Given the description of an element on the screen output the (x, y) to click on. 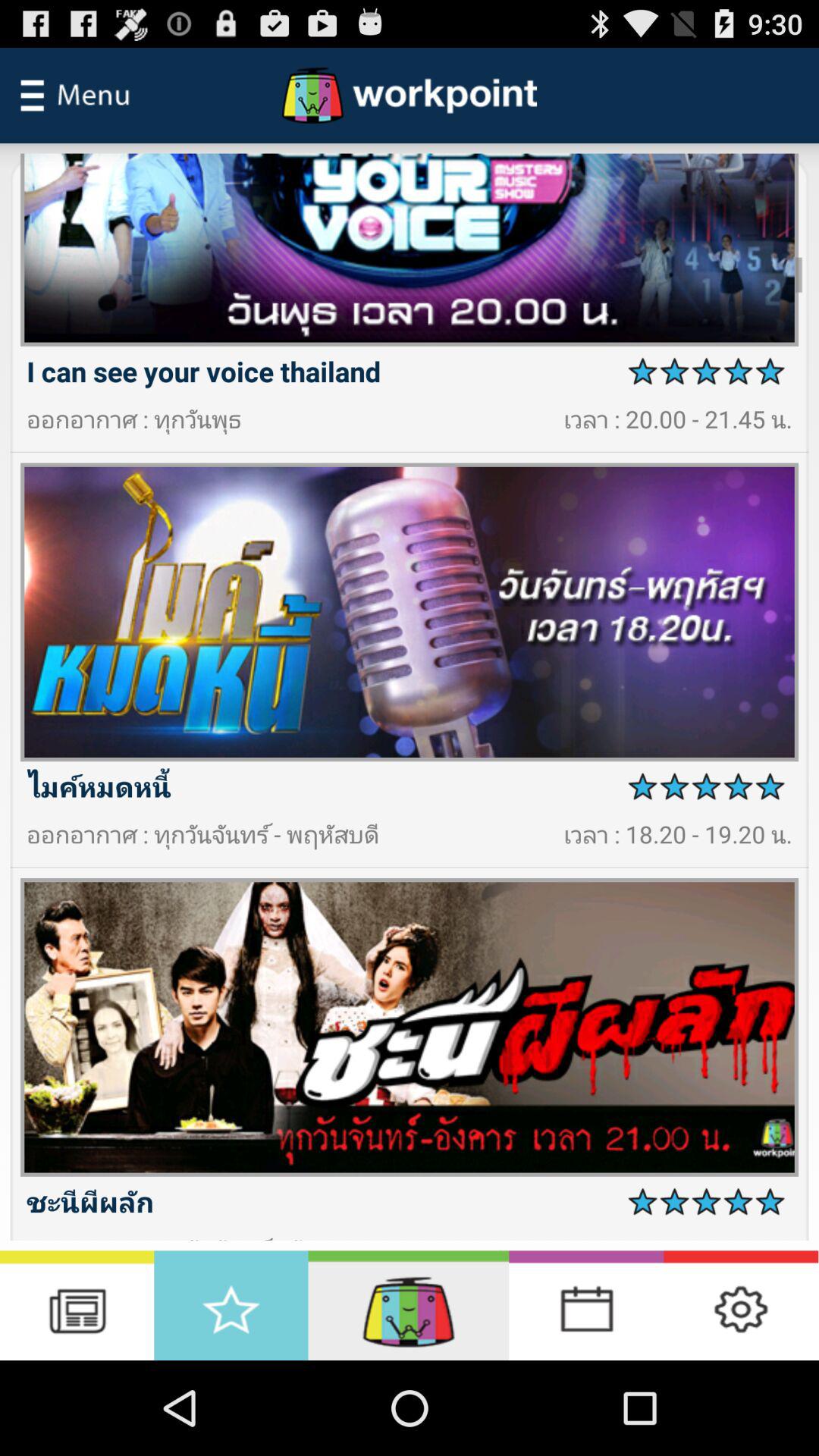
settings option (740, 1305)
